Given the description of an element on the screen output the (x, y) to click on. 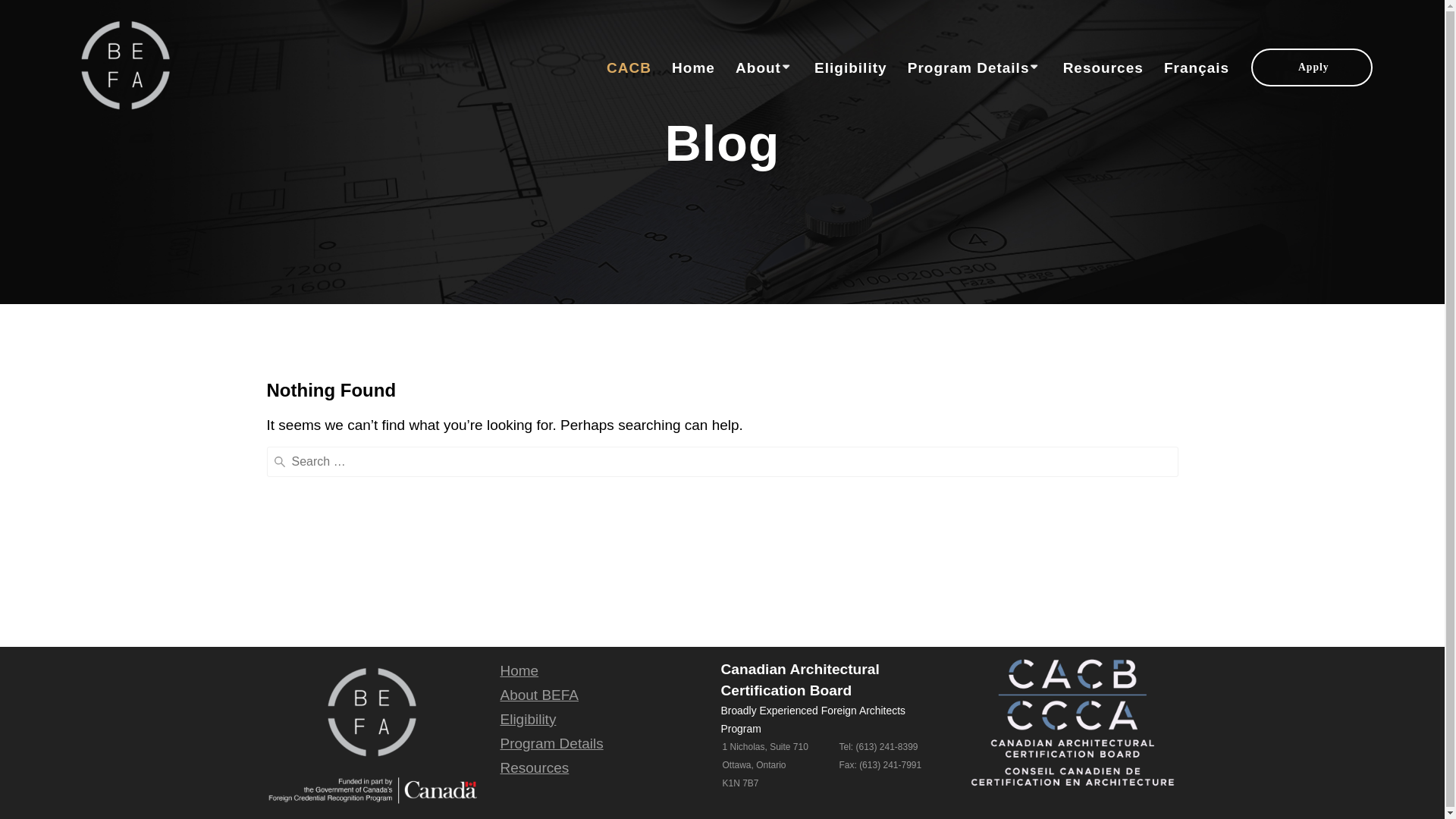
Resources Element type: text (533, 767)
Home Element type: text (693, 67)
Apply Element type: text (1311, 67)
Eligibility Element type: text (527, 719)
Program Details Element type: text (550, 743)
About BEFA Element type: text (538, 694)
Program Details Element type: text (974, 67)
Home Element type: text (518, 670)
Eligibility Element type: text (850, 67)
CACB Element type: text (628, 67)
Resources Element type: text (1103, 67)
About Element type: text (764, 67)
